Given the description of an element on the screen output the (x, y) to click on. 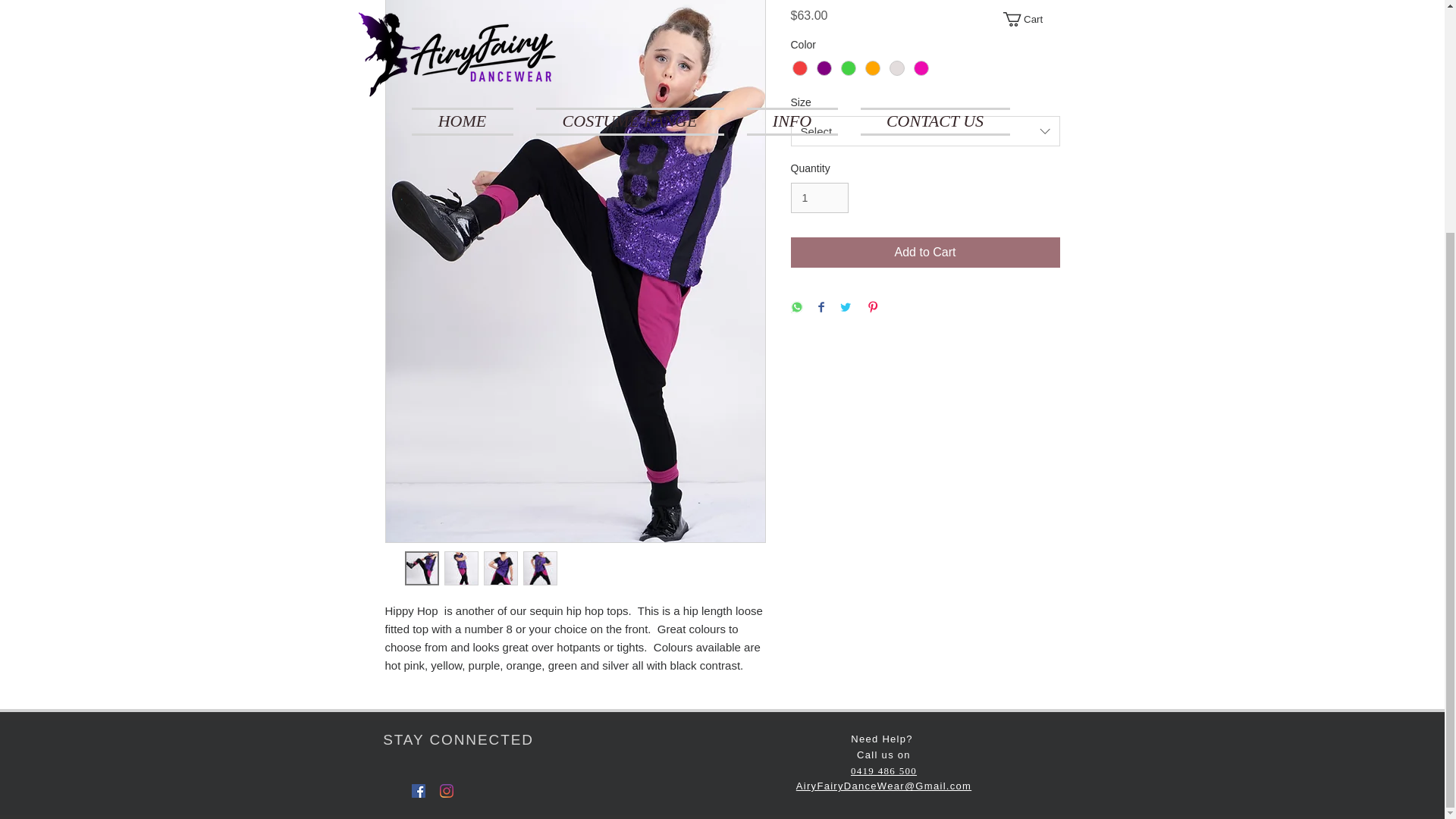
Add to Cart (924, 252)
0419 486 500 (883, 770)
1 (818, 197)
Select (924, 131)
